Given the description of an element on the screen output the (x, y) to click on. 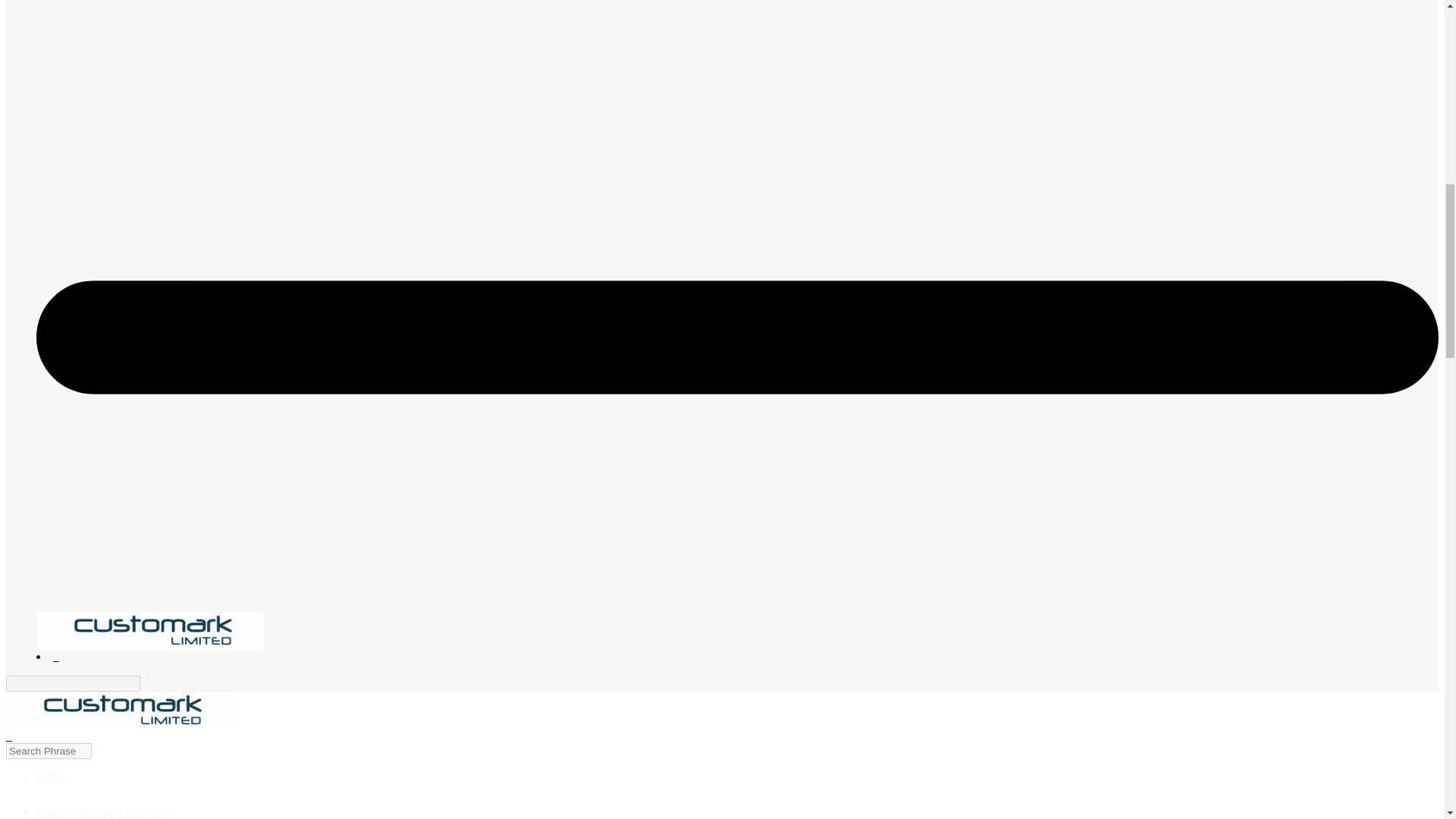
Customark Safety Labels (149, 630)
Customark Safety Labels (118, 710)
Home (50, 777)
Hazard Warning Diamonds (102, 811)
Find (148, 683)
